Given the description of an element on the screen output the (x, y) to click on. 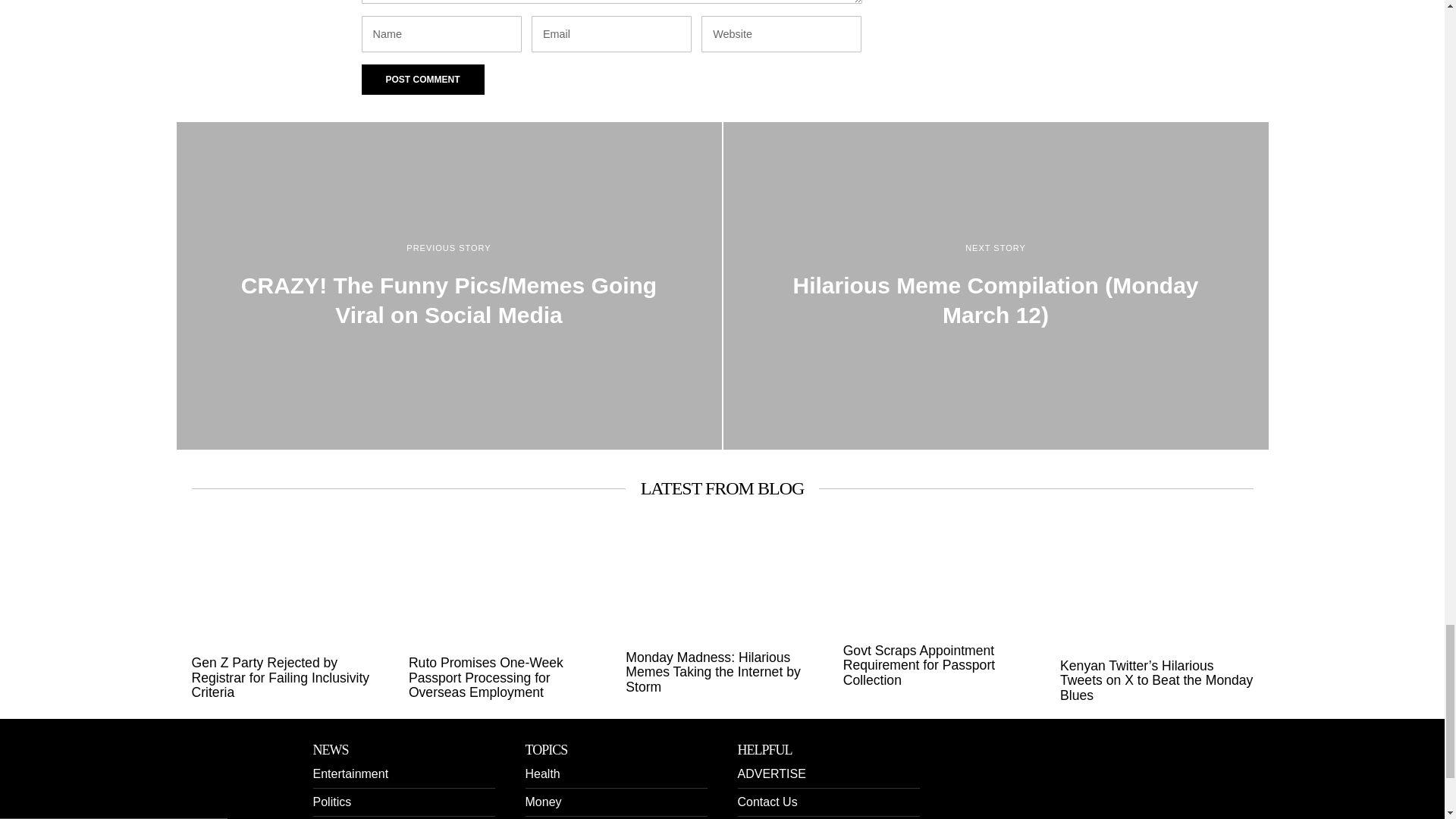
Post Comment (422, 79)
Entertainment (350, 773)
Monday Madness: Hilarious Memes Taking the Internet by Storm (722, 672)
Politics (331, 801)
Money (542, 801)
Govt Scraps Appointment Requirement for Passport Collection (939, 665)
Health (541, 773)
Post Comment (422, 79)
